Given the description of an element on the screen output the (x, y) to click on. 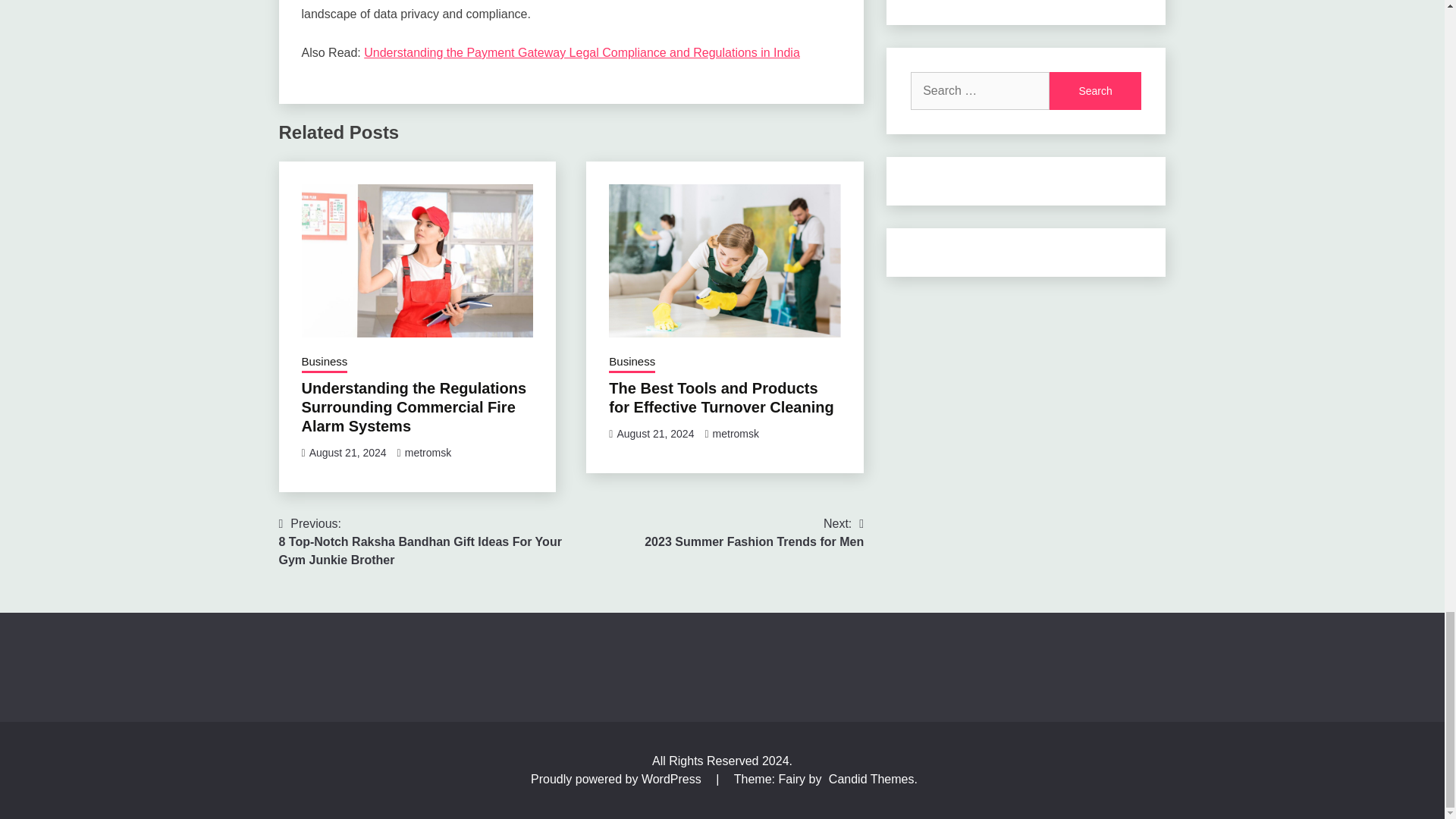
Search (1095, 90)
Search (1095, 90)
Business (324, 362)
August 21, 2024 (347, 452)
metromsk (427, 452)
